Given the description of an element on the screen output the (x, y) to click on. 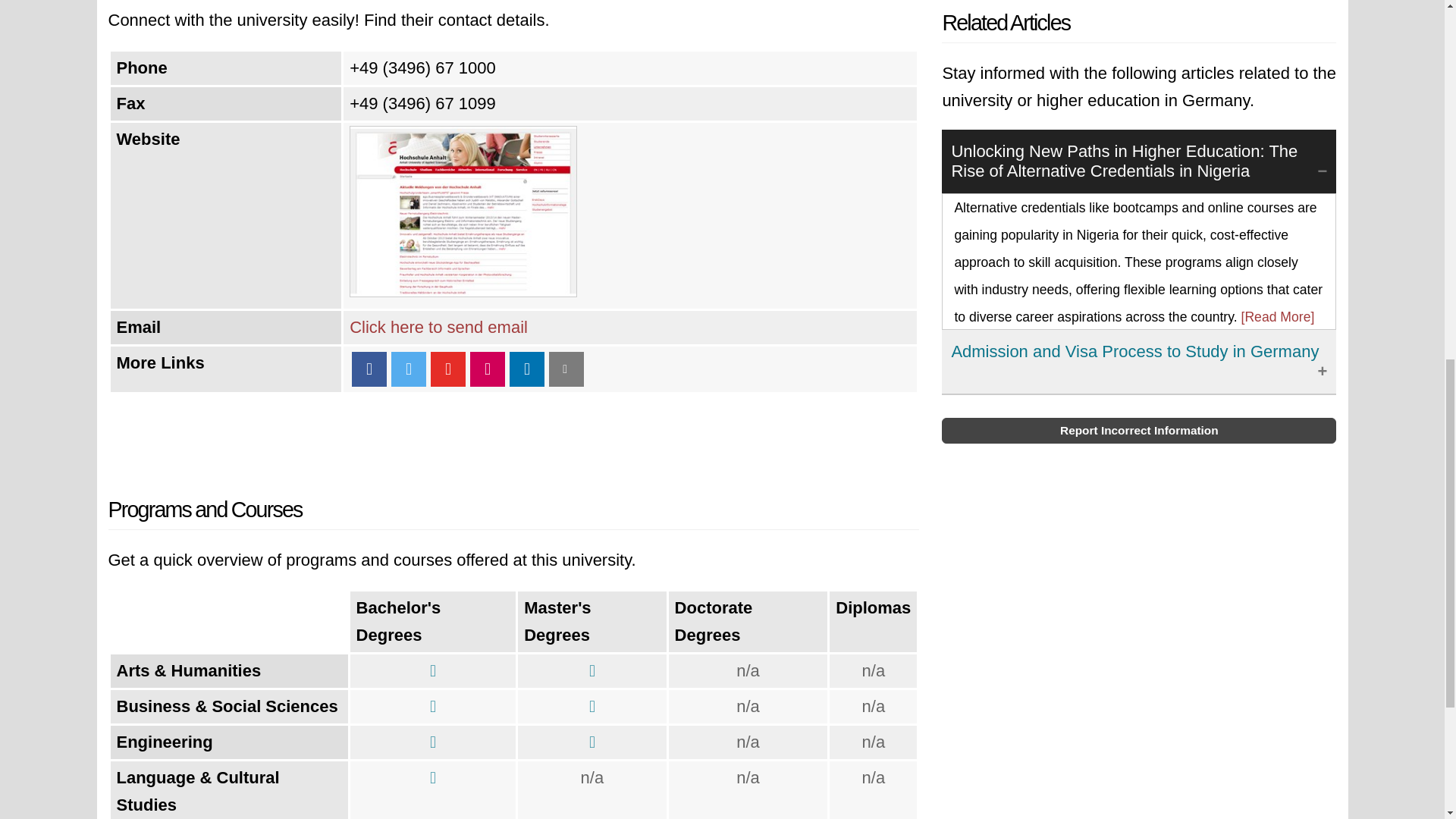
Anhalt University of Applied Sciences Website (462, 291)
Send an email to Anhalt University of Applied Sciences (438, 326)
Click here to send email (438, 326)
Admission and Visa Process to Study in Germany (1139, 361)
Report Incorrect Information (1139, 430)
